Given the description of an element on the screen output the (x, y) to click on. 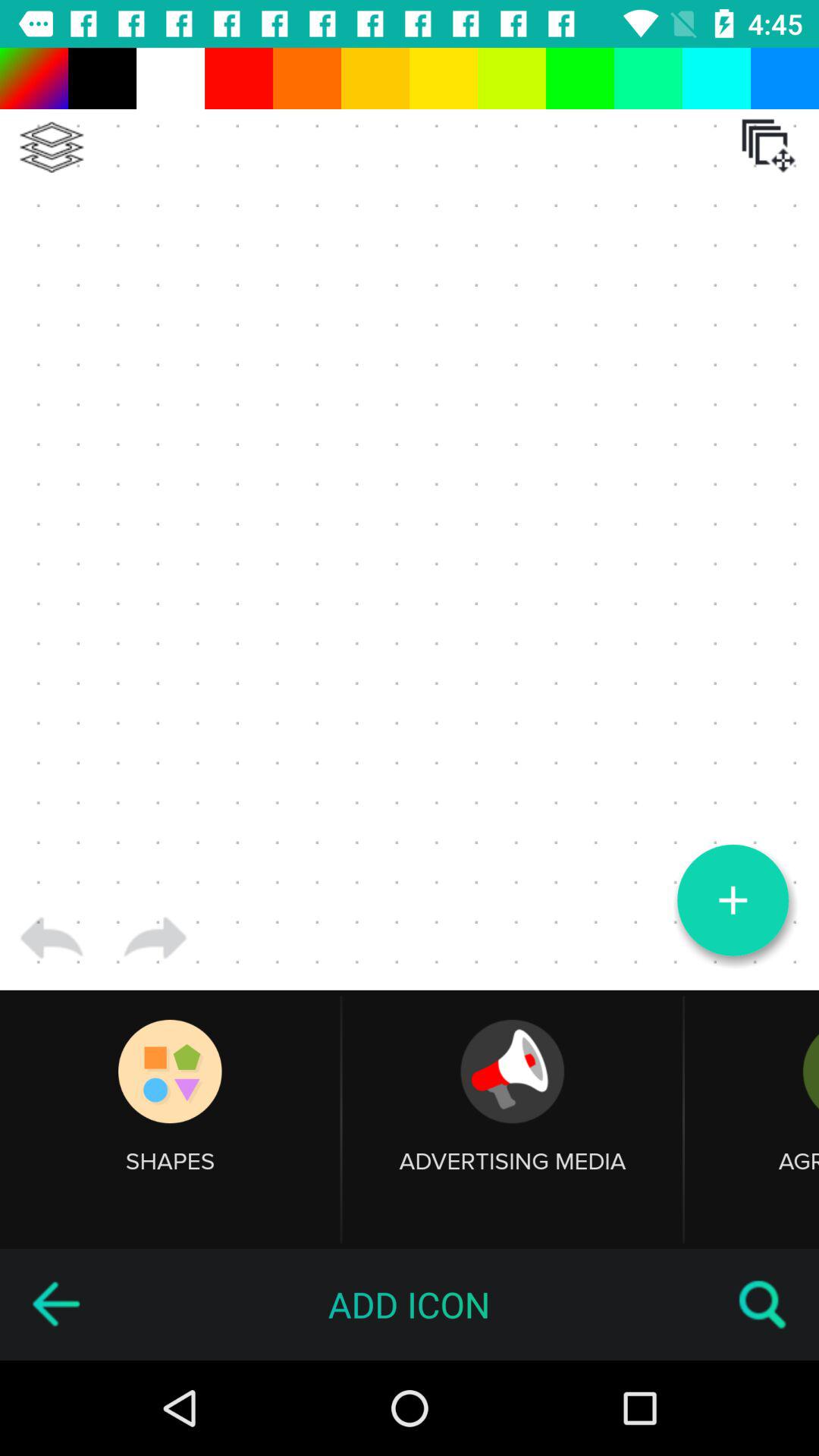
turn on icon below the shapes icon (55, 1304)
